Given the description of an element on the screen output the (x, y) to click on. 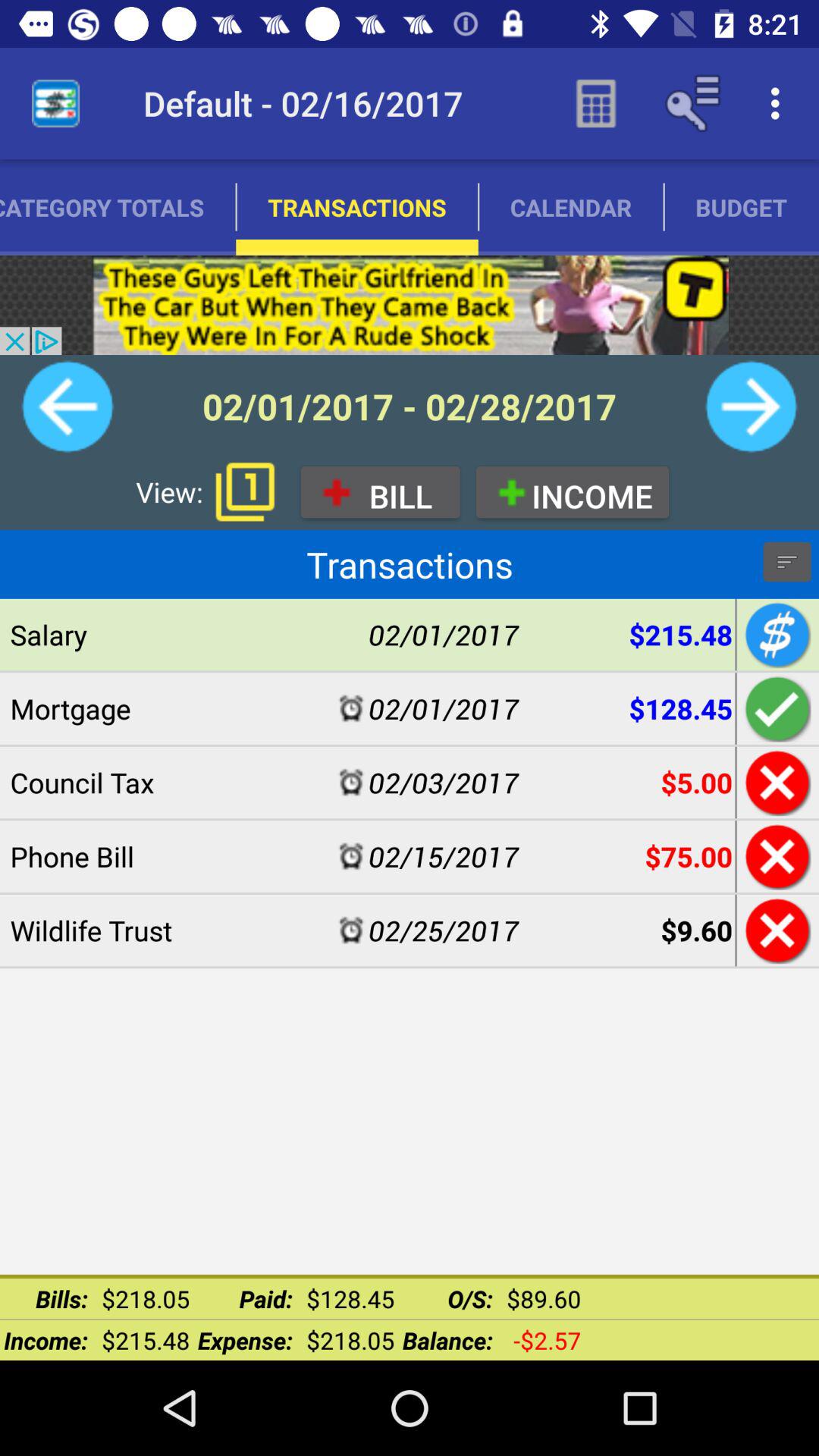
go to next month (751, 406)
